Given the description of an element on the screen output the (x, y) to click on. 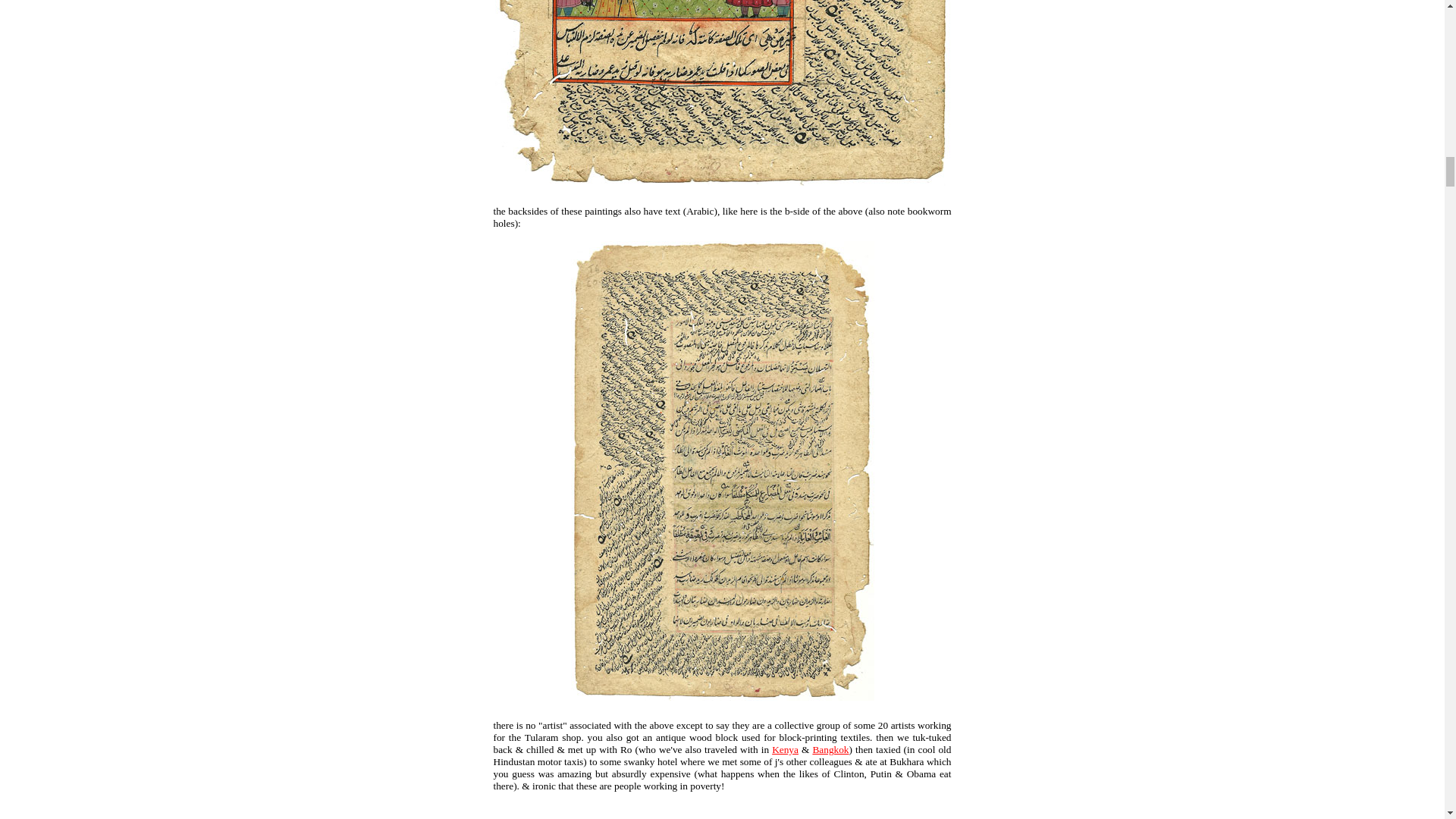
Bangkok (830, 749)
Kenya (784, 749)
